Given the description of an element on the screen output the (x, y) to click on. 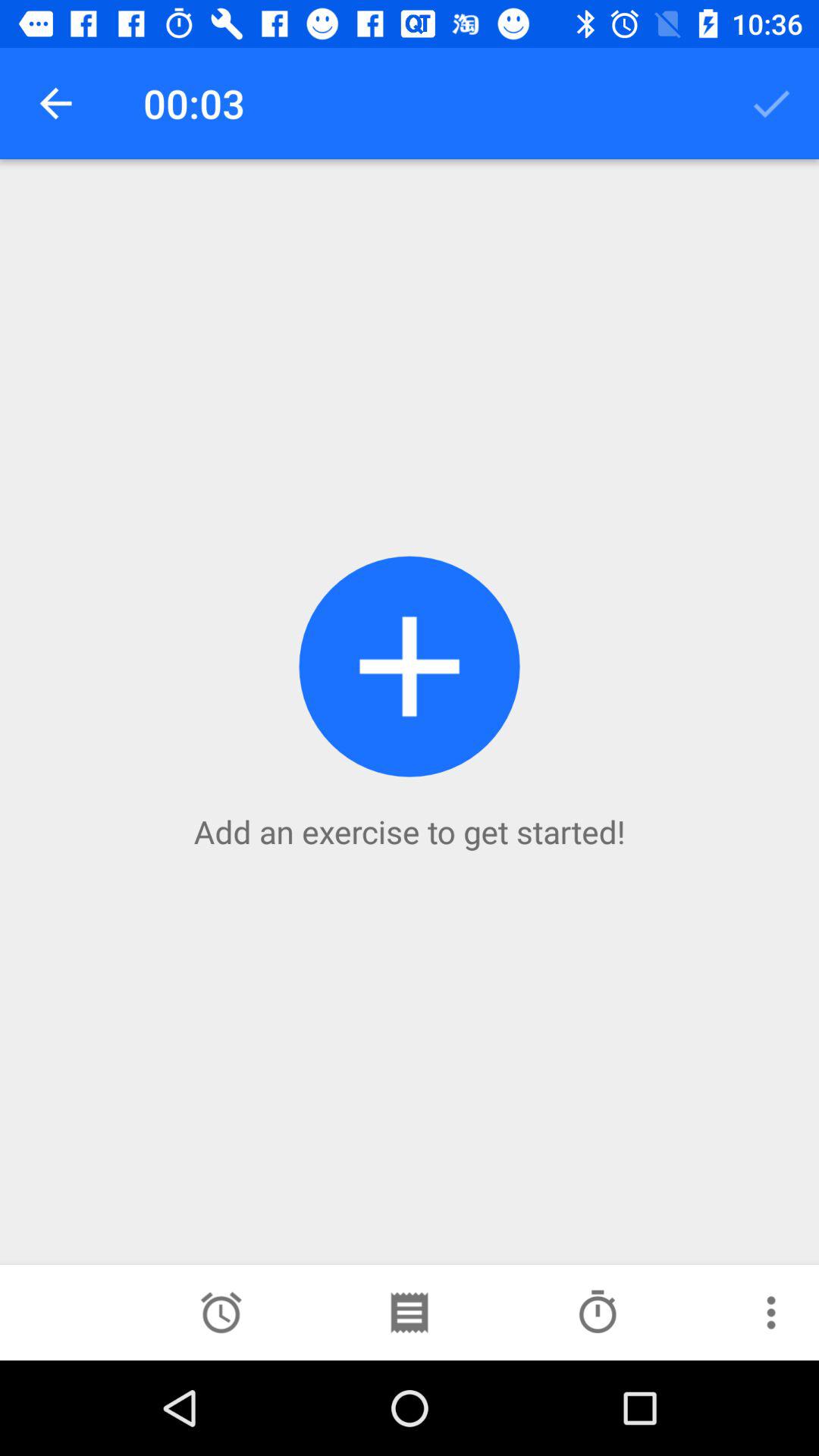
more options (771, 1312)
